Given the description of an element on the screen output the (x, y) to click on. 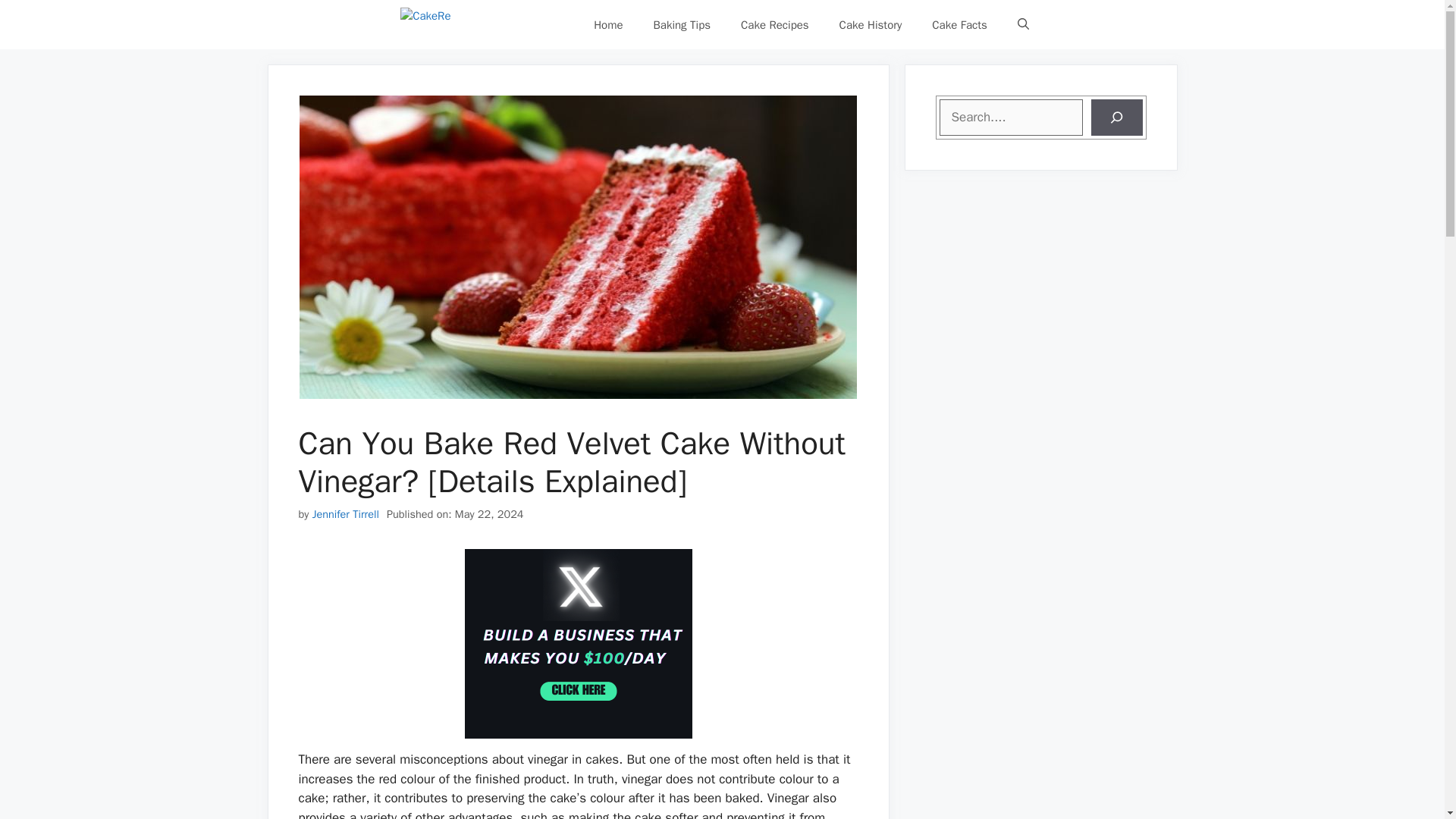
Cake Recipes (774, 23)
CakeRe (485, 24)
Jennifer Tirrell (345, 513)
Home (607, 23)
Cake Facts (960, 23)
View all posts by Jennifer Tirrell (345, 513)
Cake History (870, 23)
Baking Tips (682, 23)
